Given the description of an element on the screen output the (x, y) to click on. 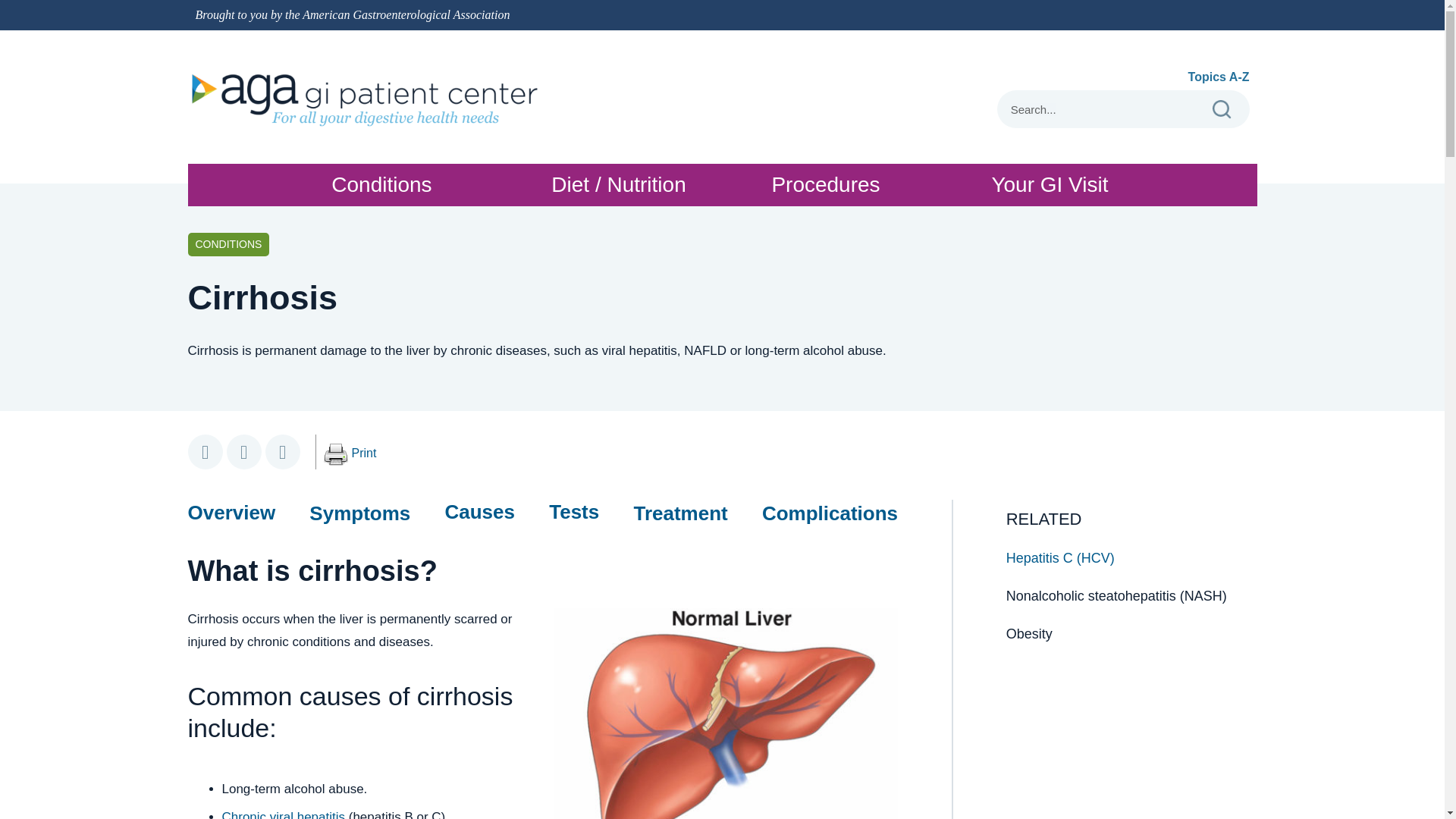
Search (364, 453)
Search (1100, 108)
Topics A-Z (335, 454)
